Given the description of an element on the screen output the (x, y) to click on. 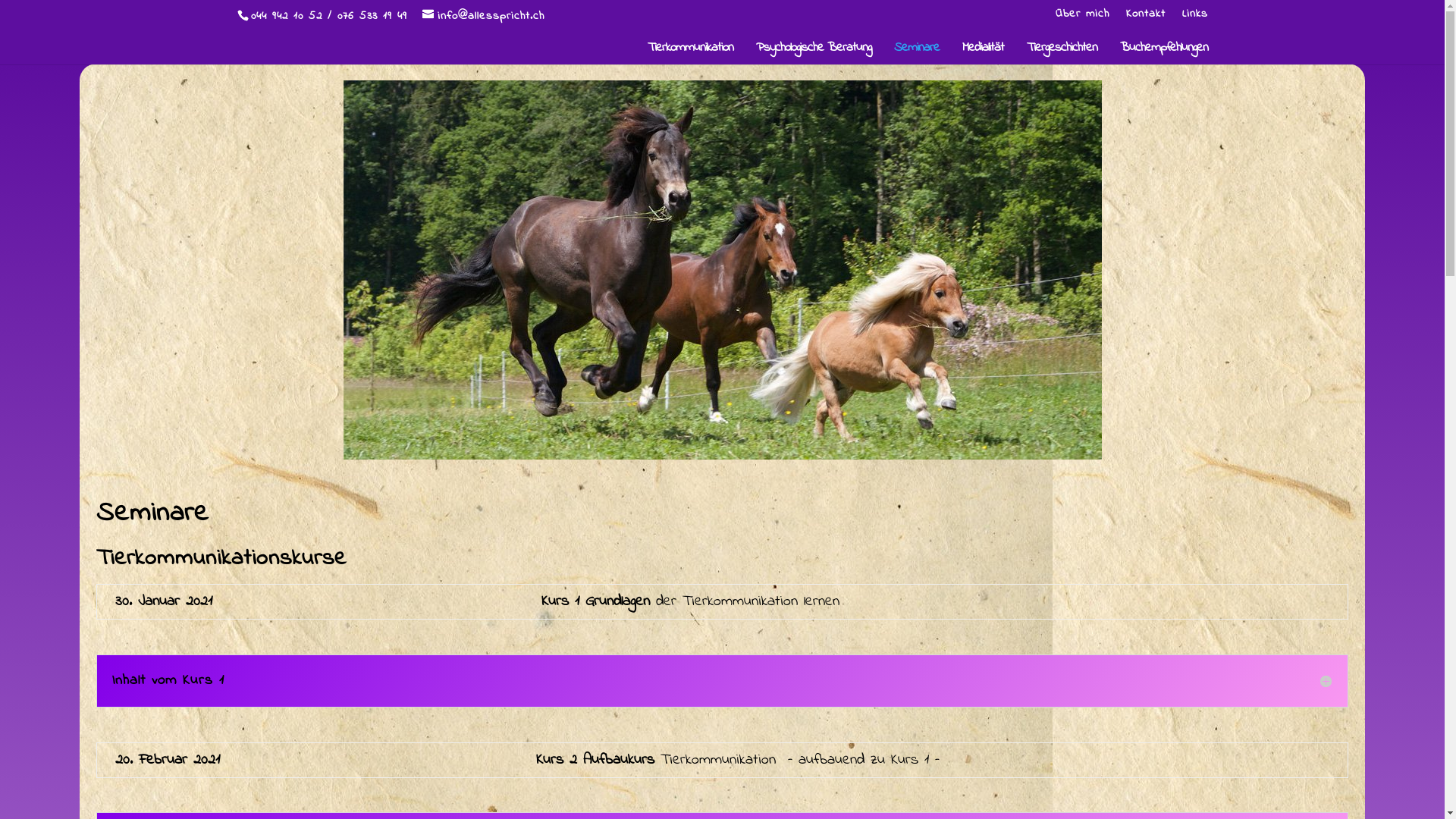
Buchempfehlungen Element type: text (1163, 53)
Links Element type: text (1194, 18)
Psychologische Beratung Element type: text (812, 53)
Tiergeschichten Element type: text (1061, 53)
Tierkommunikation Element type: text (690, 53)
Kontakt Element type: text (1144, 18)
Seminare Element type: text (915, 53)
info@allesspricht.ch Element type: text (482, 15)
